Given the description of an element on the screen output the (x, y) to click on. 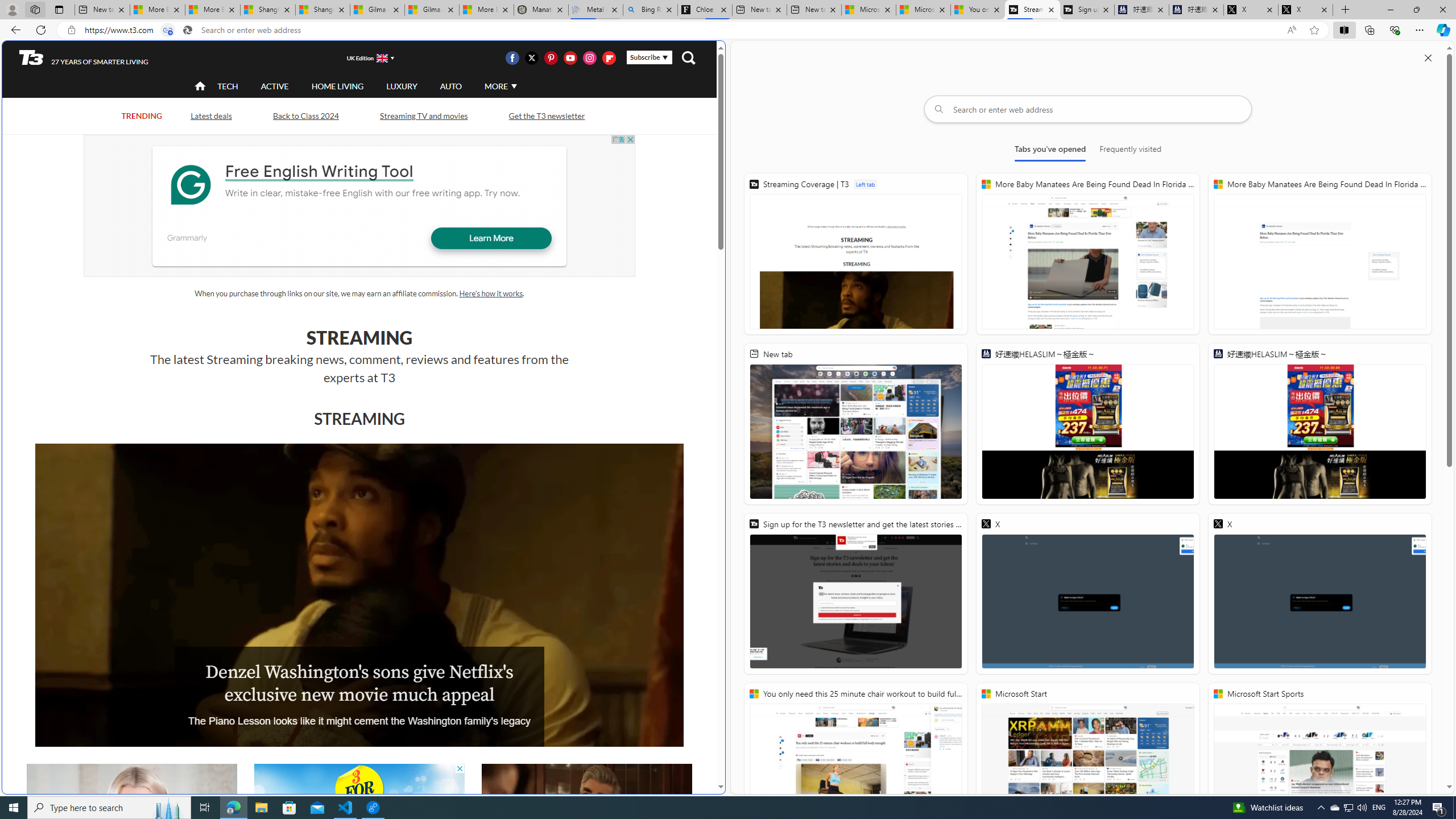
Search icon (187, 29)
Bing Real Estate - Home sales and rental listings (650, 9)
Visit us on Twitter (531, 57)
Latest deals (210, 115)
LUXURY (401, 86)
Visit us on Youtube (569, 57)
Close split screen (1428, 57)
Frequently visited (1130, 151)
